Given the description of an element on the screen output the (x, y) to click on. 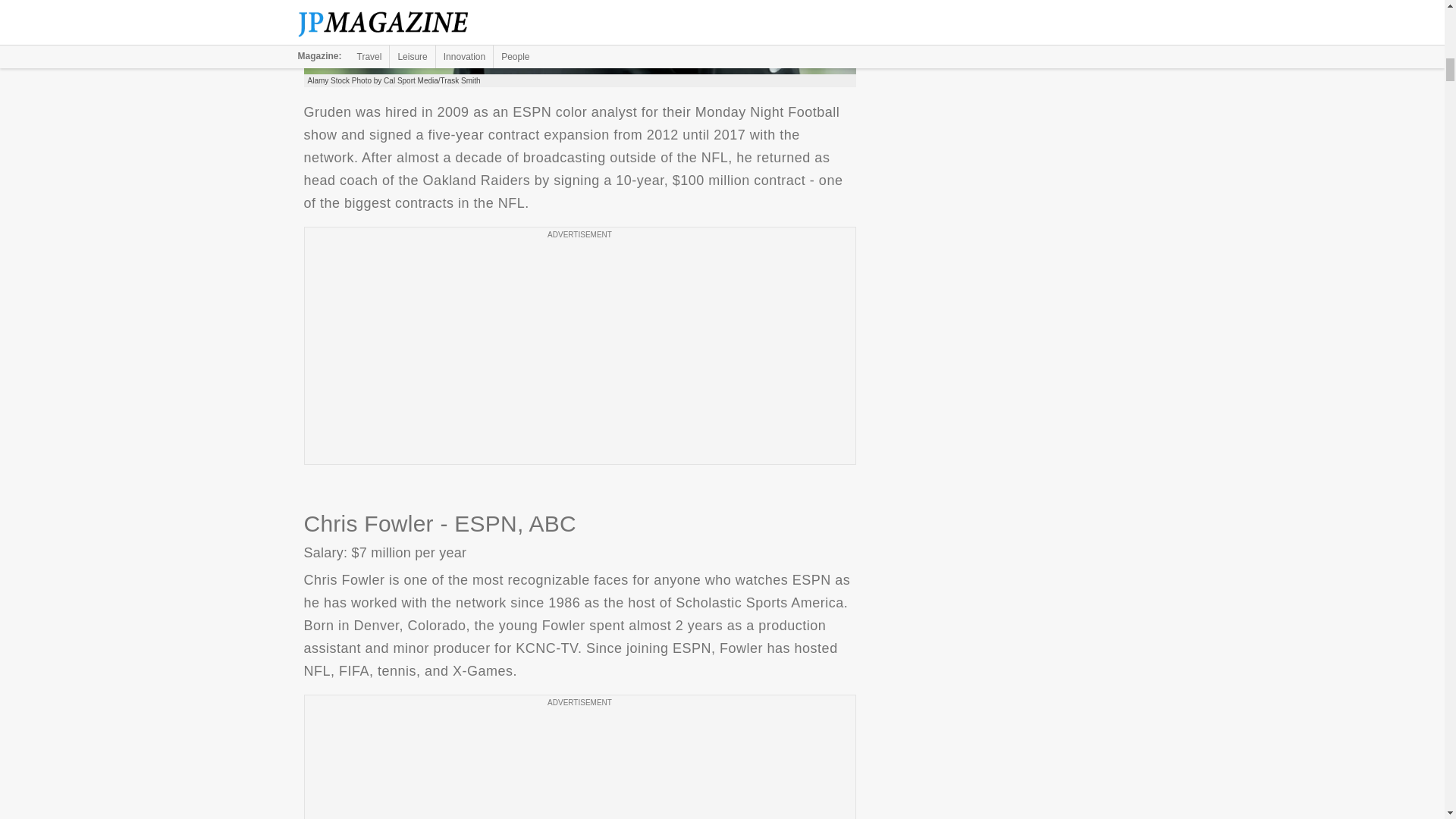
Jon Gruden - ESPN (579, 37)
